Given the description of an element on the screen output the (x, y) to click on. 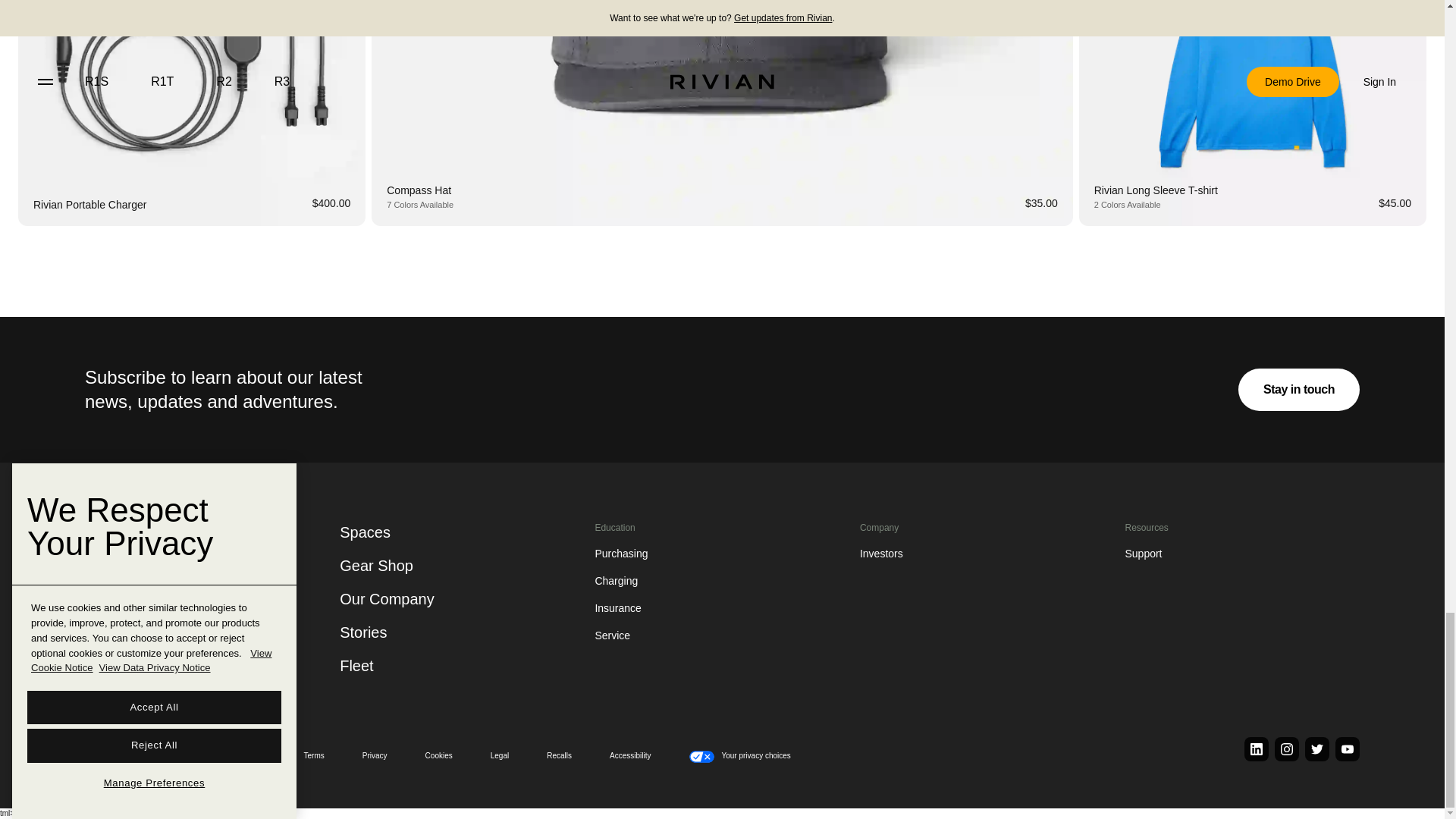
Stay in touch (1299, 389)
R2 (100, 621)
R1S (108, 578)
R1T (107, 536)
